Given the description of an element on the screen output the (x, y) to click on. 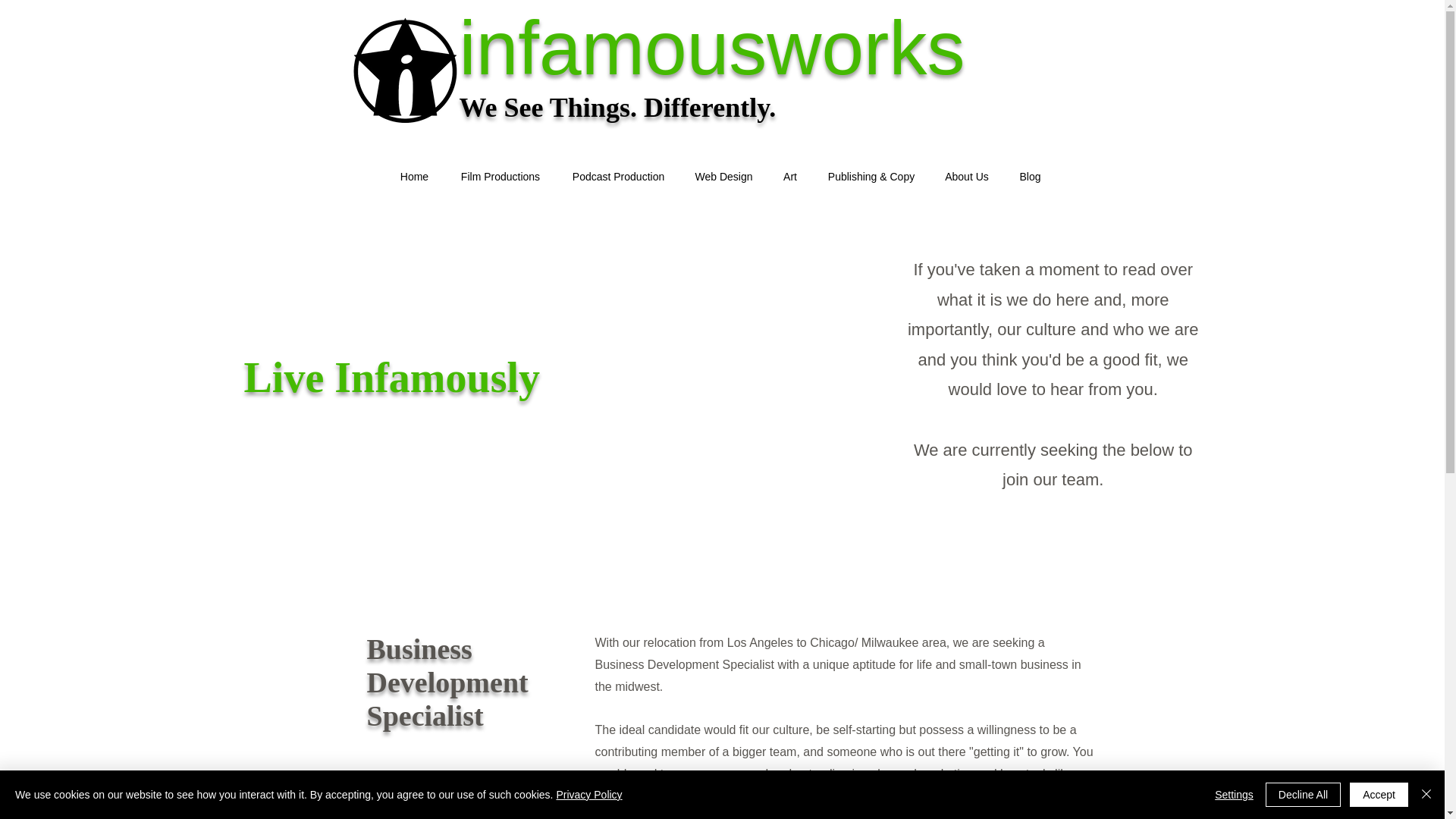
Film Productions (500, 176)
Podcast Production (617, 176)
Privacy Policy (588, 794)
Art (789, 176)
Web Design (724, 176)
Accept (1378, 794)
Home (414, 176)
Decline All (1302, 794)
Blog (1029, 176)
